Given the description of an element on the screen output the (x, y) to click on. 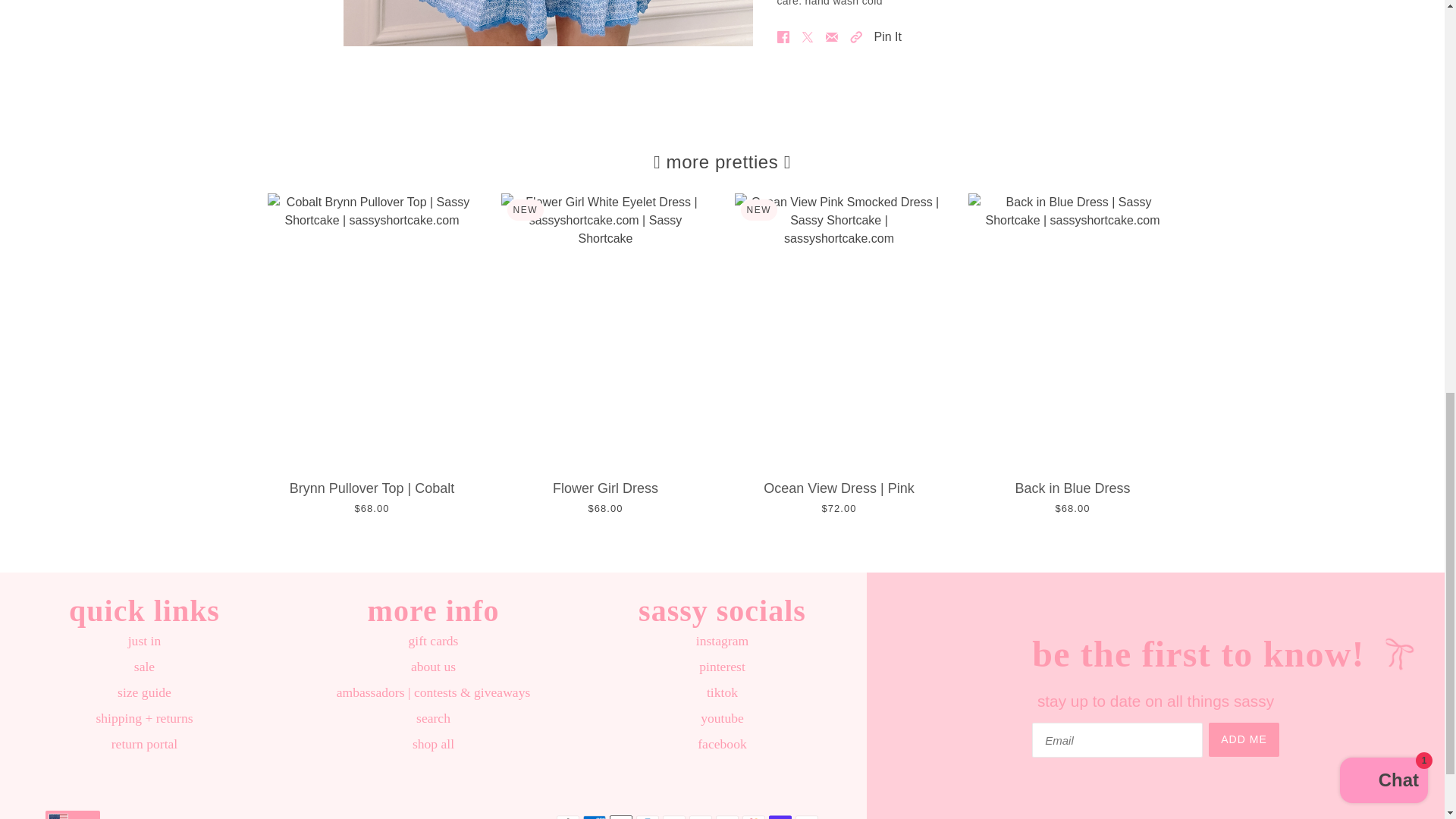
return portal (144, 743)
tiktok (722, 692)
instagram (721, 640)
facebook (721, 743)
youtube (722, 717)
about us (432, 666)
pinterest (721, 666)
size guide (144, 692)
Pin It (887, 36)
sale (143, 666)
shop all (433, 743)
gift cards (433, 640)
just in (144, 640)
